Given the description of an element on the screen output the (x, y) to click on. 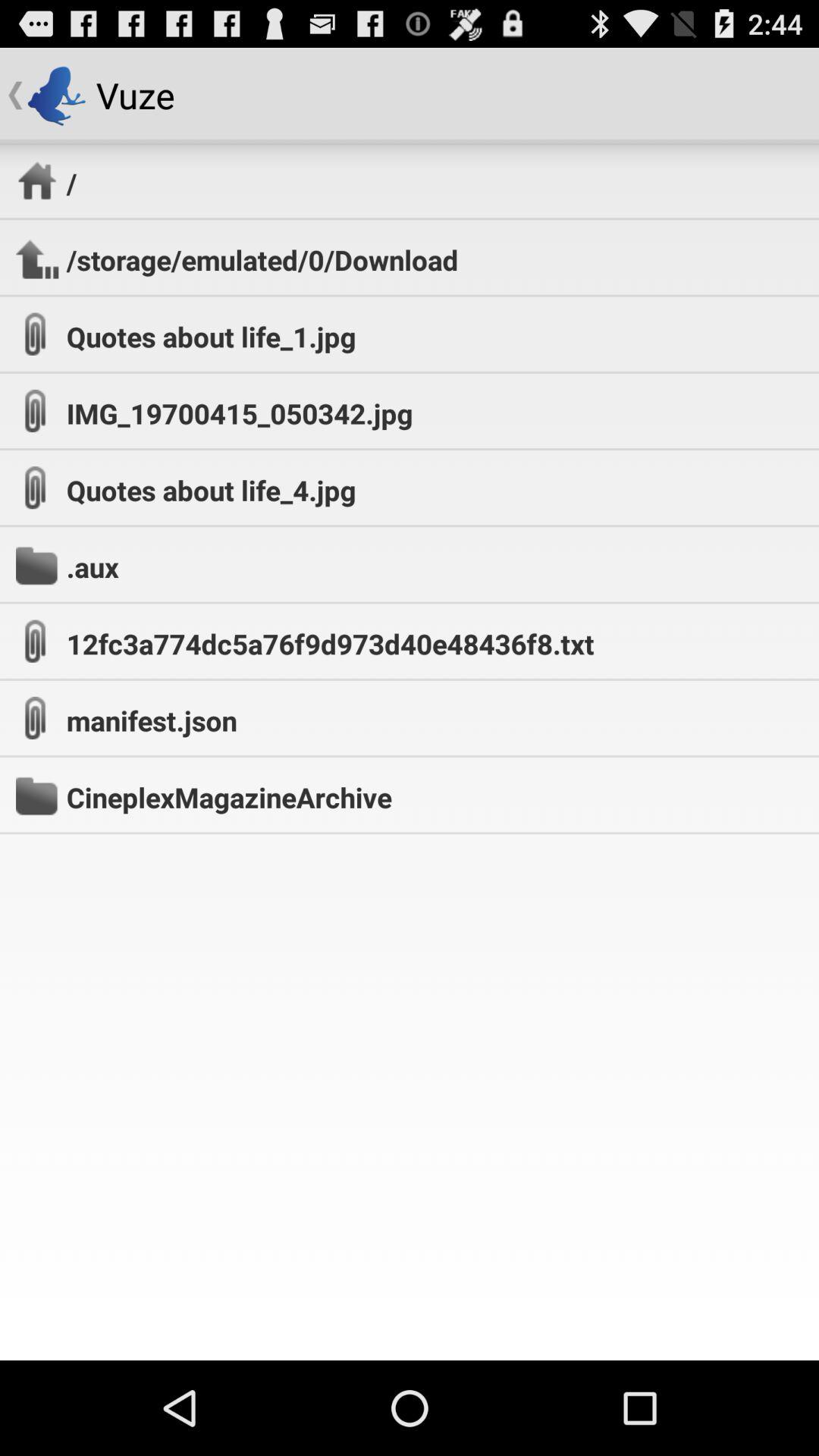
flip to the cineplexmagazinearchive app (228, 797)
